Given the description of an element on the screen output the (x, y) to click on. 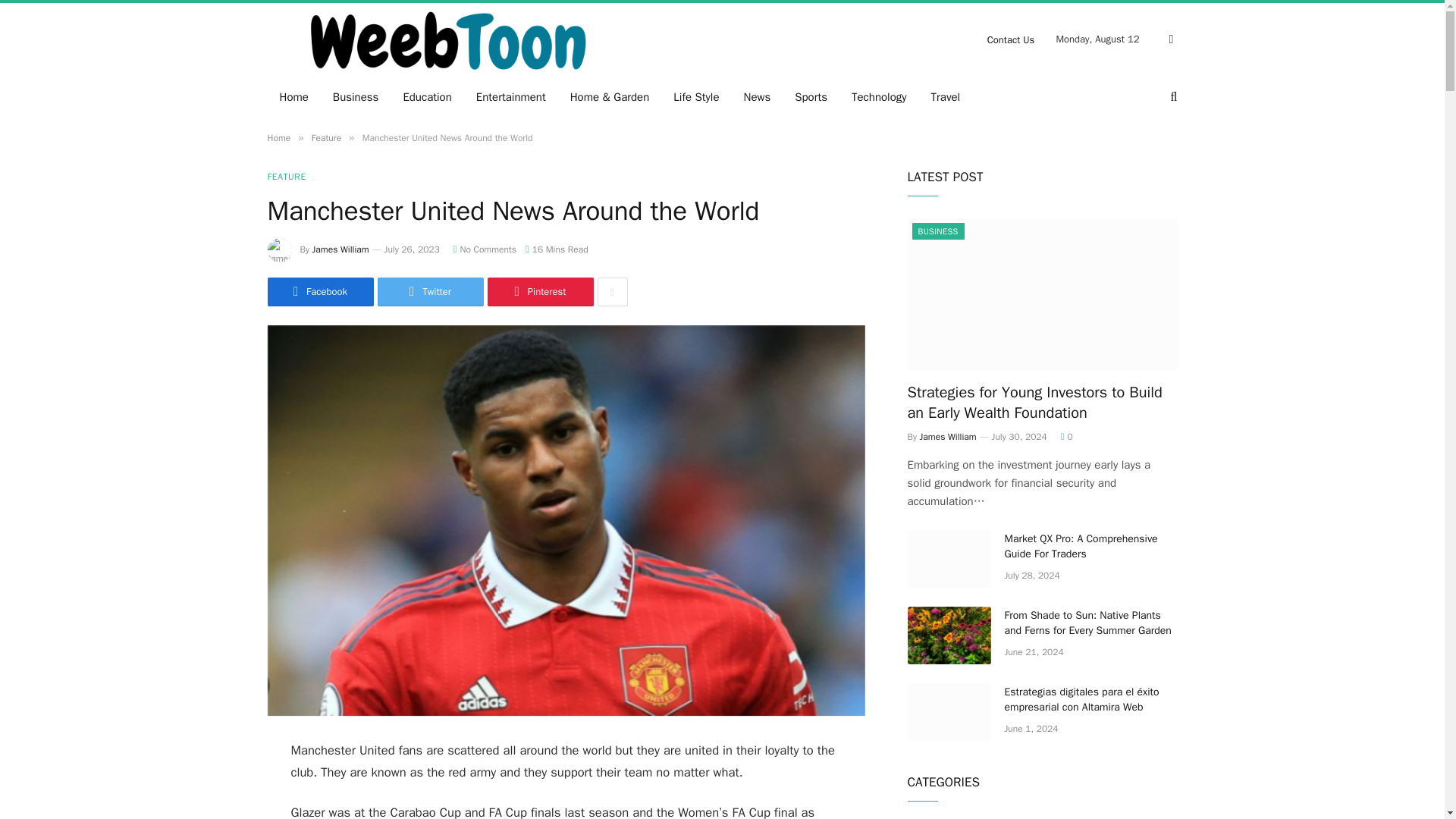
Travel (945, 96)
Share on Twitter (430, 291)
News (757, 96)
Share on Pinterest (539, 291)
Education (426, 96)
Life Style (695, 96)
Business (355, 96)
Sports (811, 96)
Feature (325, 137)
Entertainment (510, 96)
